Given the description of an element on the screen output the (x, y) to click on. 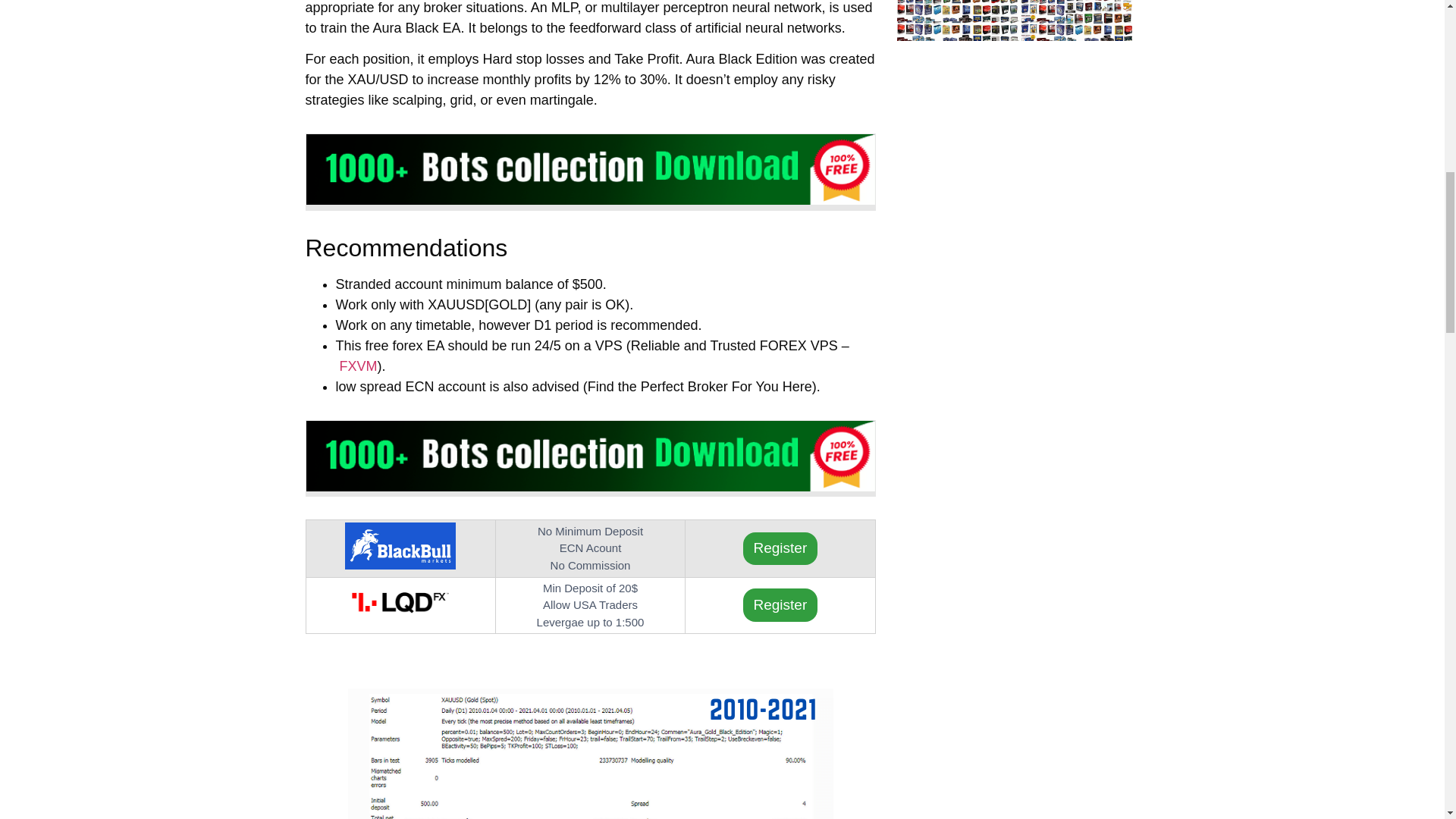
FXVM (358, 365)
